Given the description of an element on the screen output the (x, y) to click on. 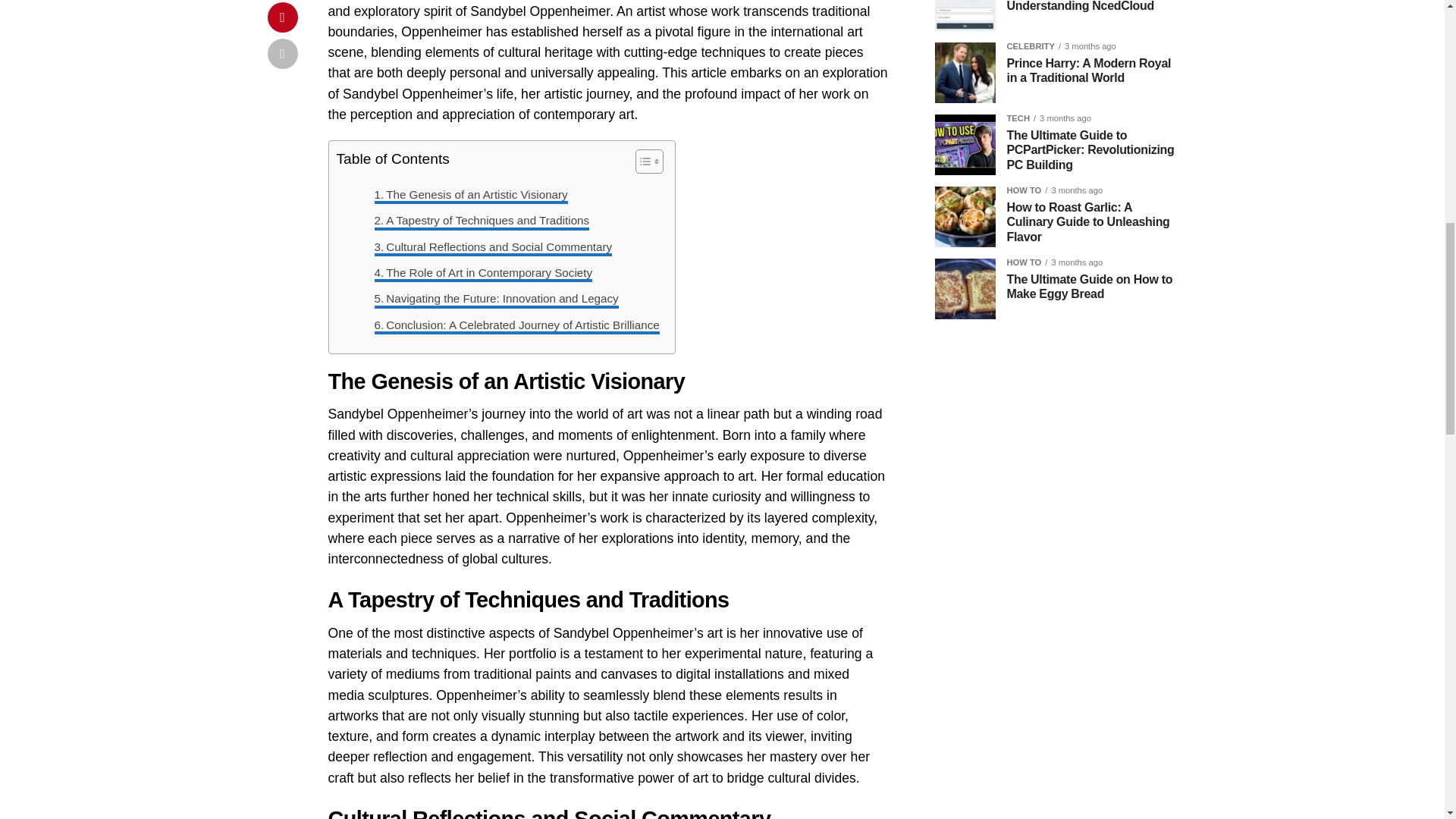
A Tapestry of Techniques and Traditions (481, 220)
The Genesis of an Artistic Visionary (470, 194)
Conclusion: A Celebrated Journey of Artistic Brilliance (516, 325)
Cultural Reflections and Social Commentary (493, 247)
Navigating the Future: Innovation and Legacy (496, 298)
The Role of Art in Contemporary Society (483, 272)
